Given the description of an element on the screen output the (x, y) to click on. 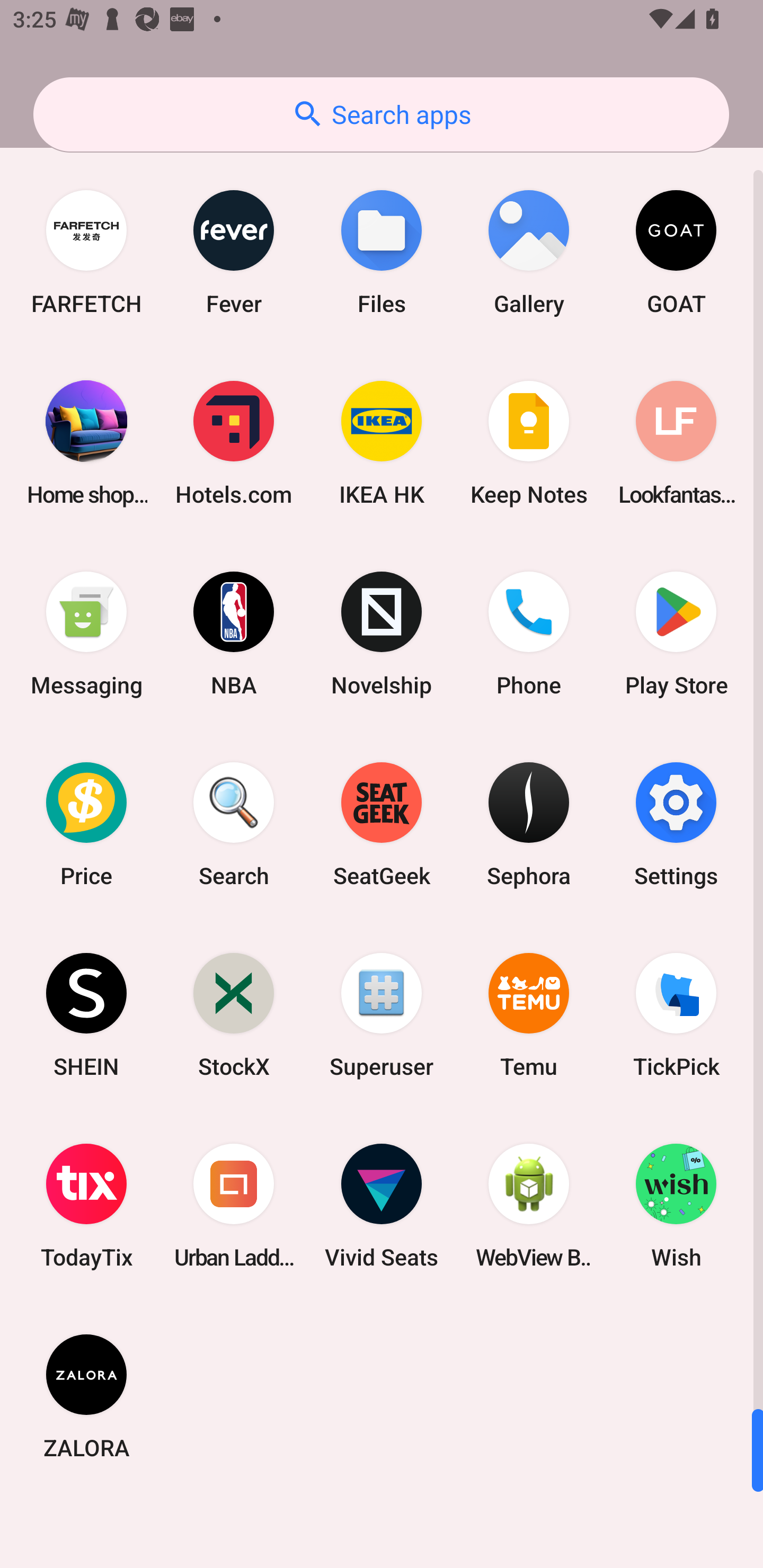
  Search apps (381, 114)
FARFETCH (86, 252)
Fever (233, 252)
Files (381, 252)
Gallery (528, 252)
GOAT (676, 252)
Home shopping (86, 442)
Hotels.com (233, 442)
IKEA HK (381, 442)
Keep Notes (528, 442)
Lookfantastic (676, 442)
Messaging (86, 633)
NBA (233, 633)
Novelship (381, 633)
Phone (528, 633)
Play Store (676, 633)
Price (86, 823)
Search (233, 823)
SeatGeek (381, 823)
Sephora (528, 823)
Settings (676, 823)
SHEIN (86, 1014)
StockX (233, 1014)
Superuser (381, 1014)
Temu (528, 1014)
TickPick (676, 1014)
TodayTix (86, 1205)
Urban Ladder (233, 1205)
Vivid Seats (381, 1205)
WebView Browser Tester (528, 1205)
Wish (676, 1205)
ZALORA (86, 1396)
